Given the description of an element on the screen output the (x, y) to click on. 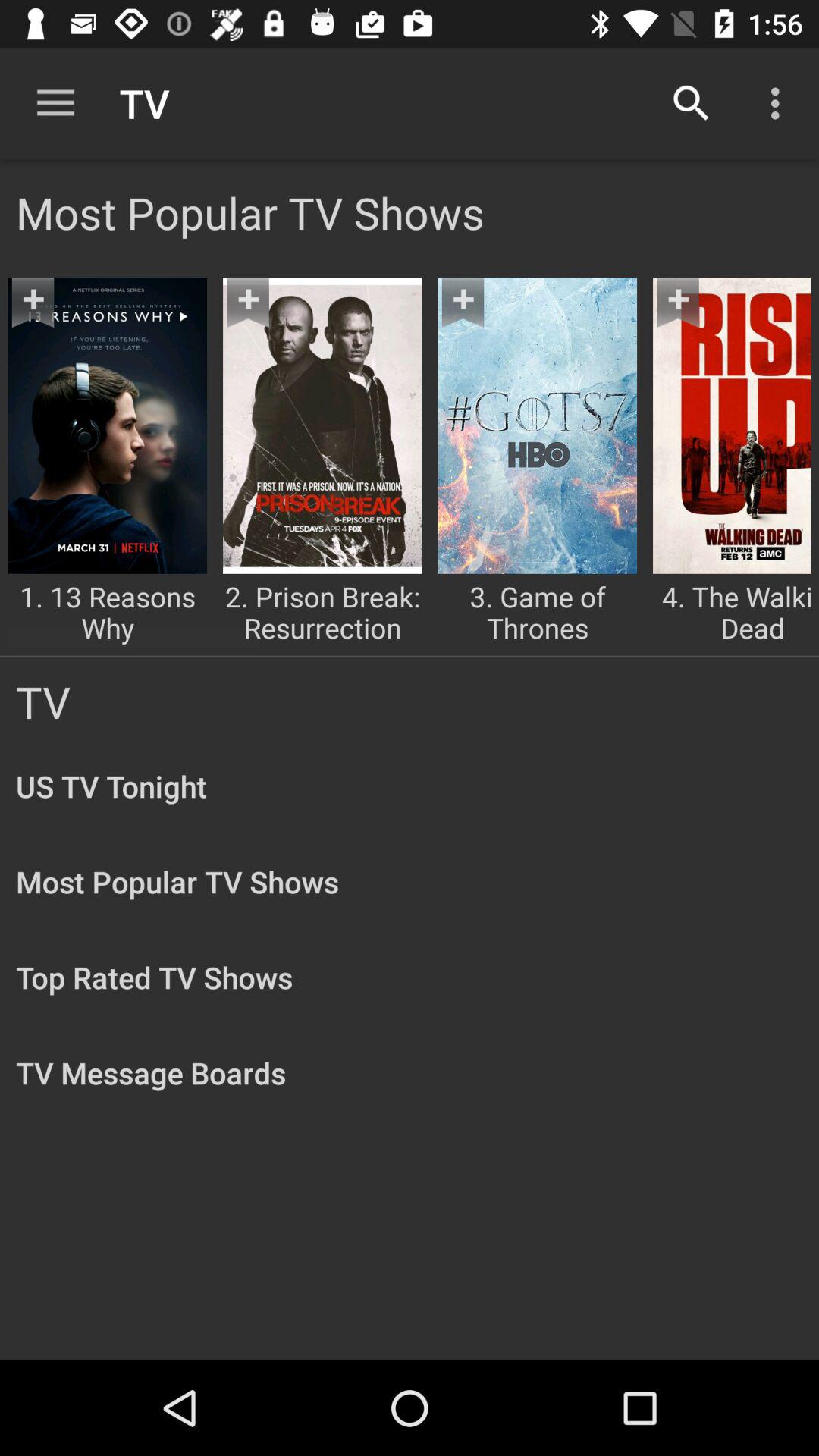
open the icon to the left of the tv (55, 103)
